Given the description of an element on the screen output the (x, y) to click on. 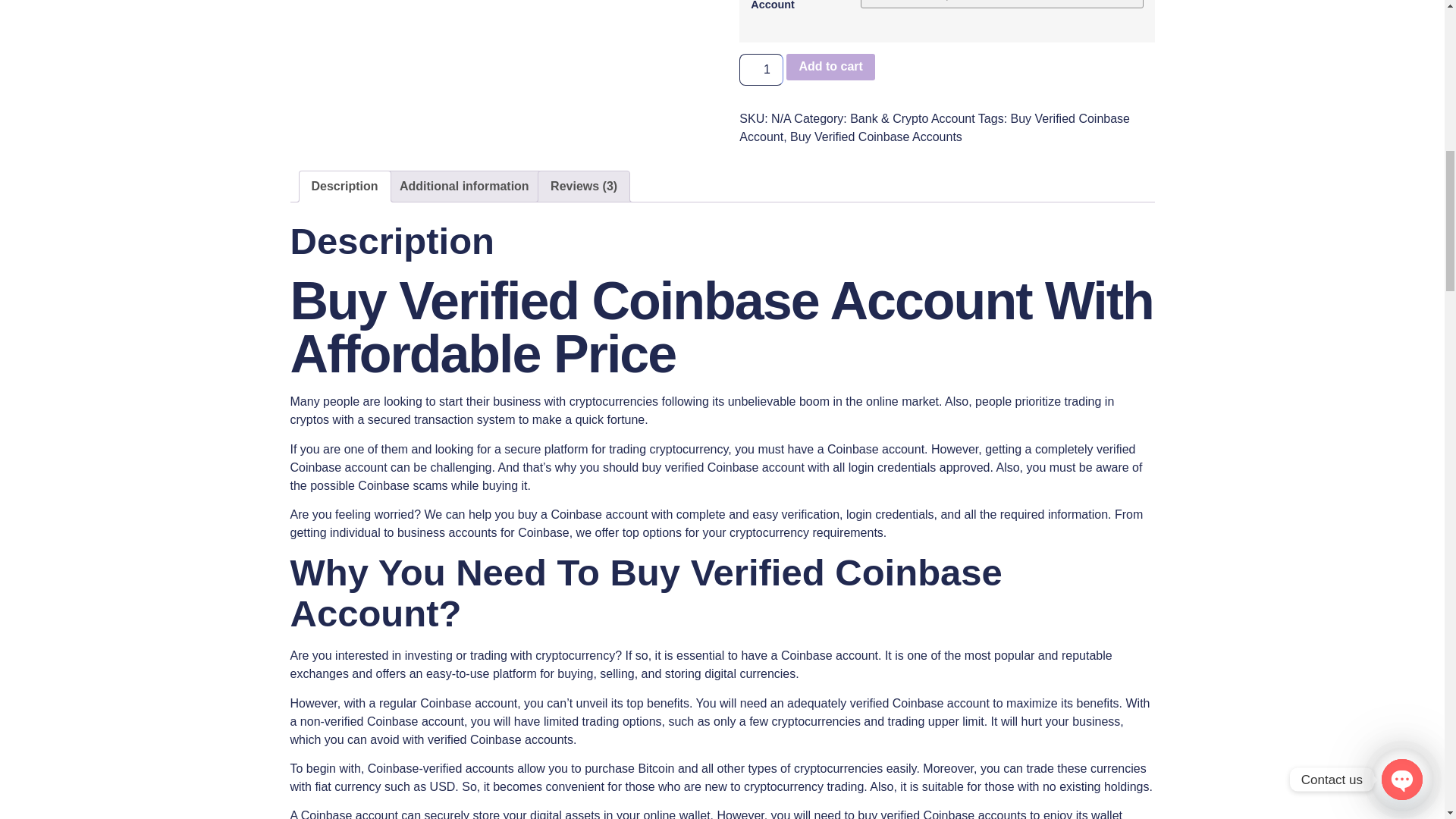
1 (761, 69)
